Given the description of an element on the screen output the (x, y) to click on. 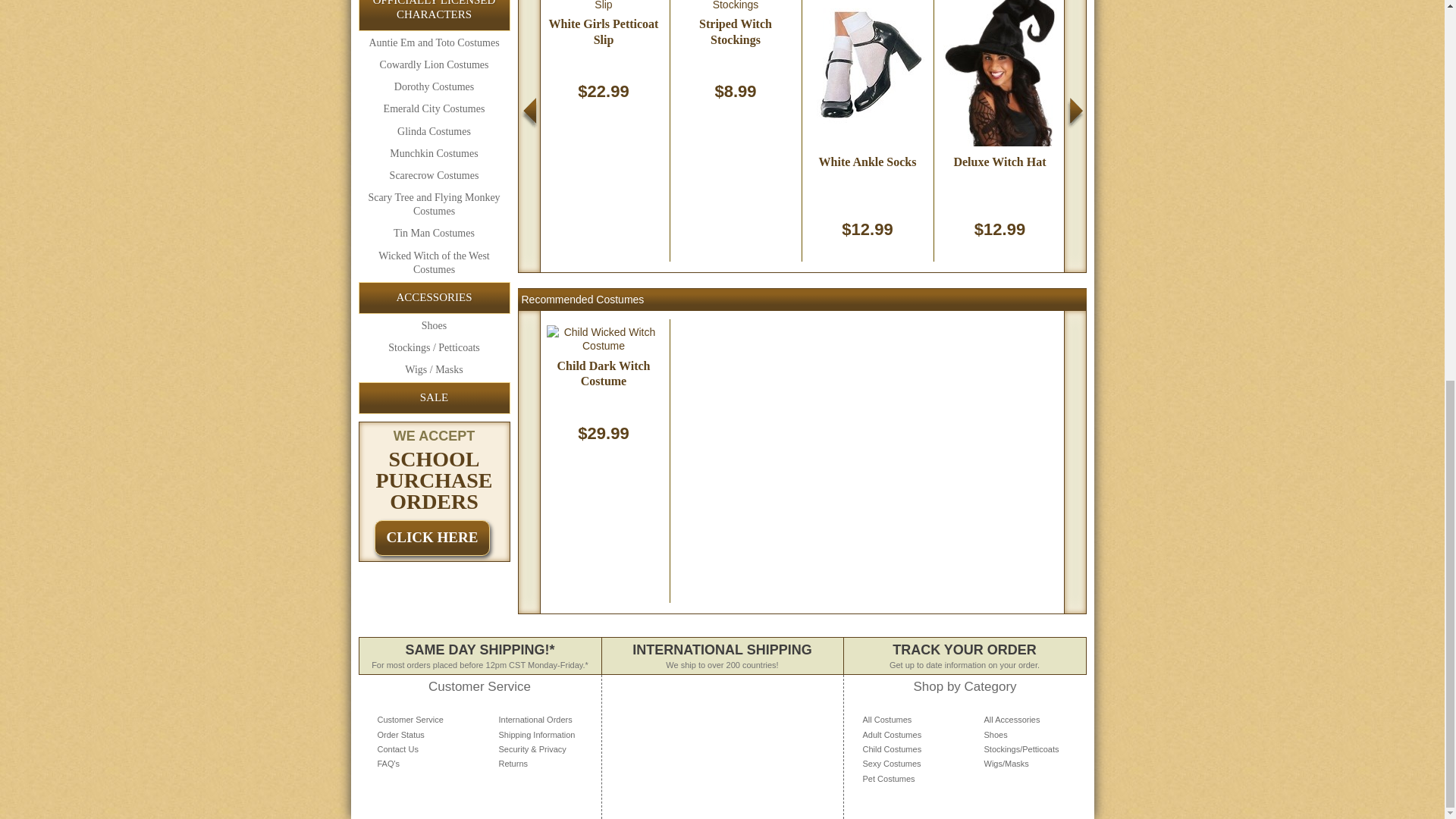
Dorothy Costumes (433, 86)
Emerald City Costumes (433, 108)
Tin Man Costumes (433, 233)
Cowardly Lion Costumes (433, 65)
Scary Tree and Flying Monkey Costumes (433, 204)
Scarecrow Costumes (433, 175)
Glinda Costumes (433, 131)
OFFICIALLY LICENSED CHARACTERS (433, 15)
Auntie Em and Toto Costumes (433, 43)
Munchkin Costumes (433, 153)
